Given the description of an element on the screen output the (x, y) to click on. 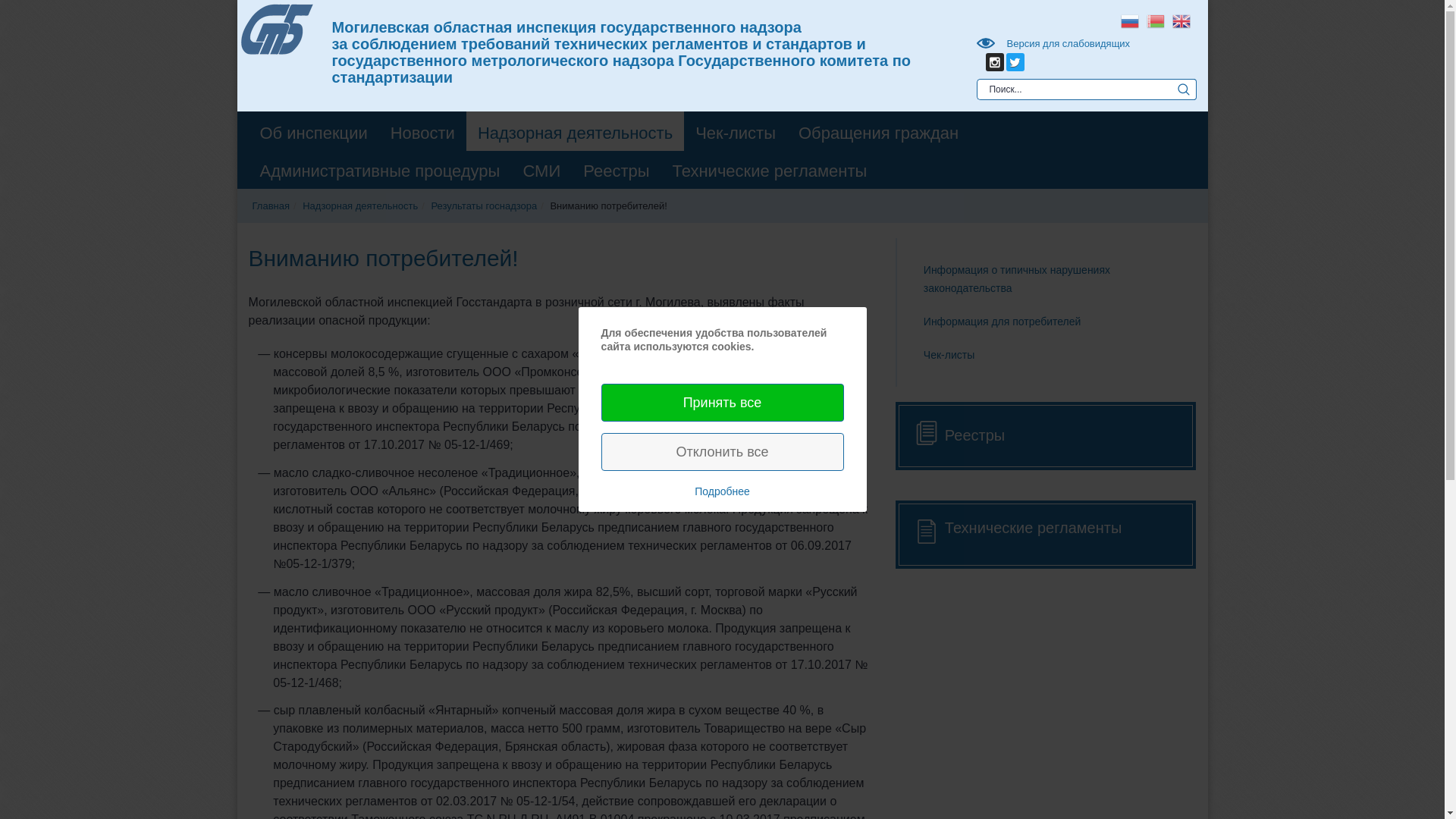
English Element type: hover (1180, 19)
Russian Element type: hover (1129, 19)
Belarusian Element type: hover (1154, 19)
